Given the description of an element on the screen output the (x, y) to click on. 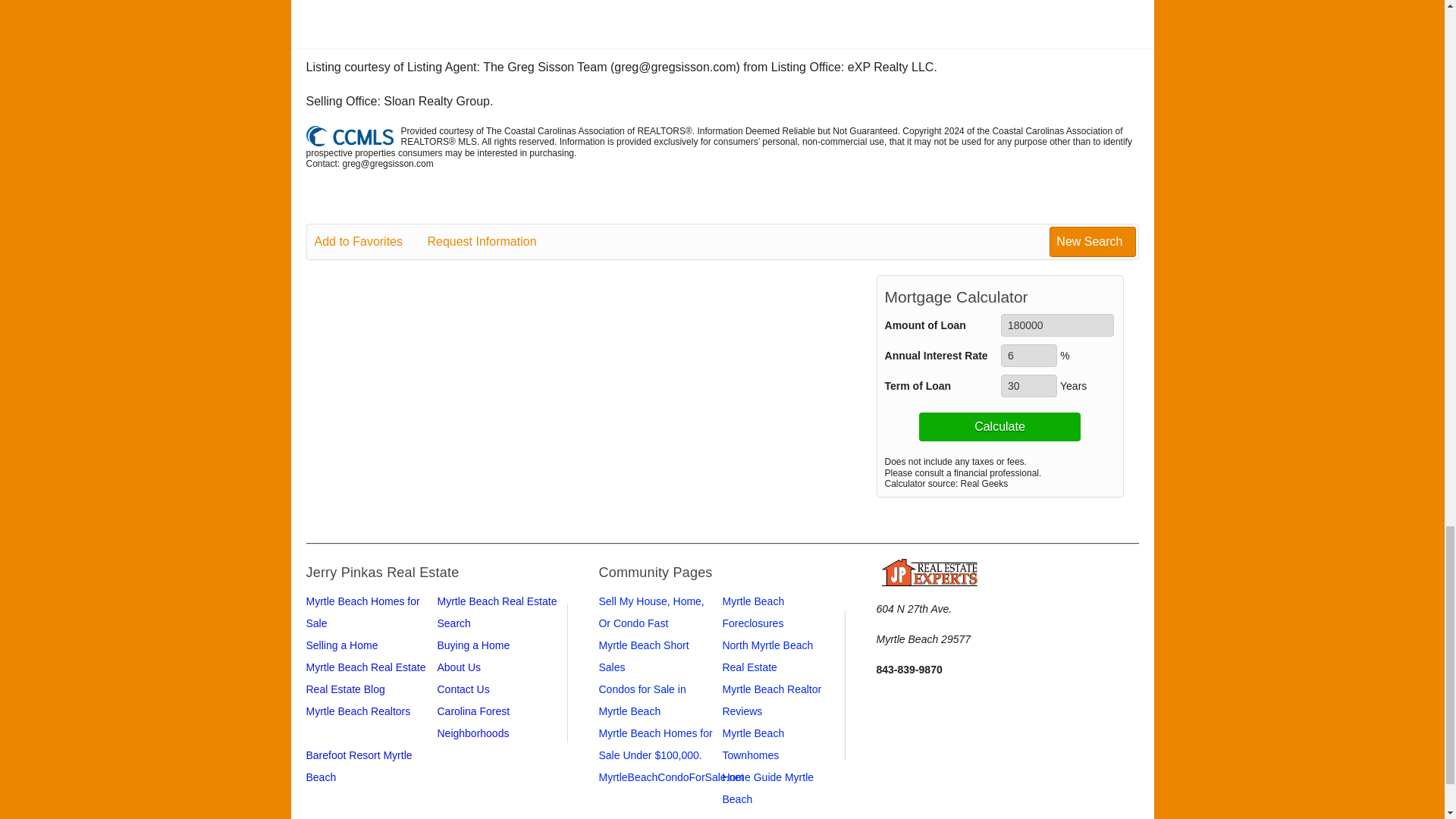
180000 (1057, 324)
6 (1029, 354)
30 (1029, 385)
